Given the description of an element on the screen output the (x, y) to click on. 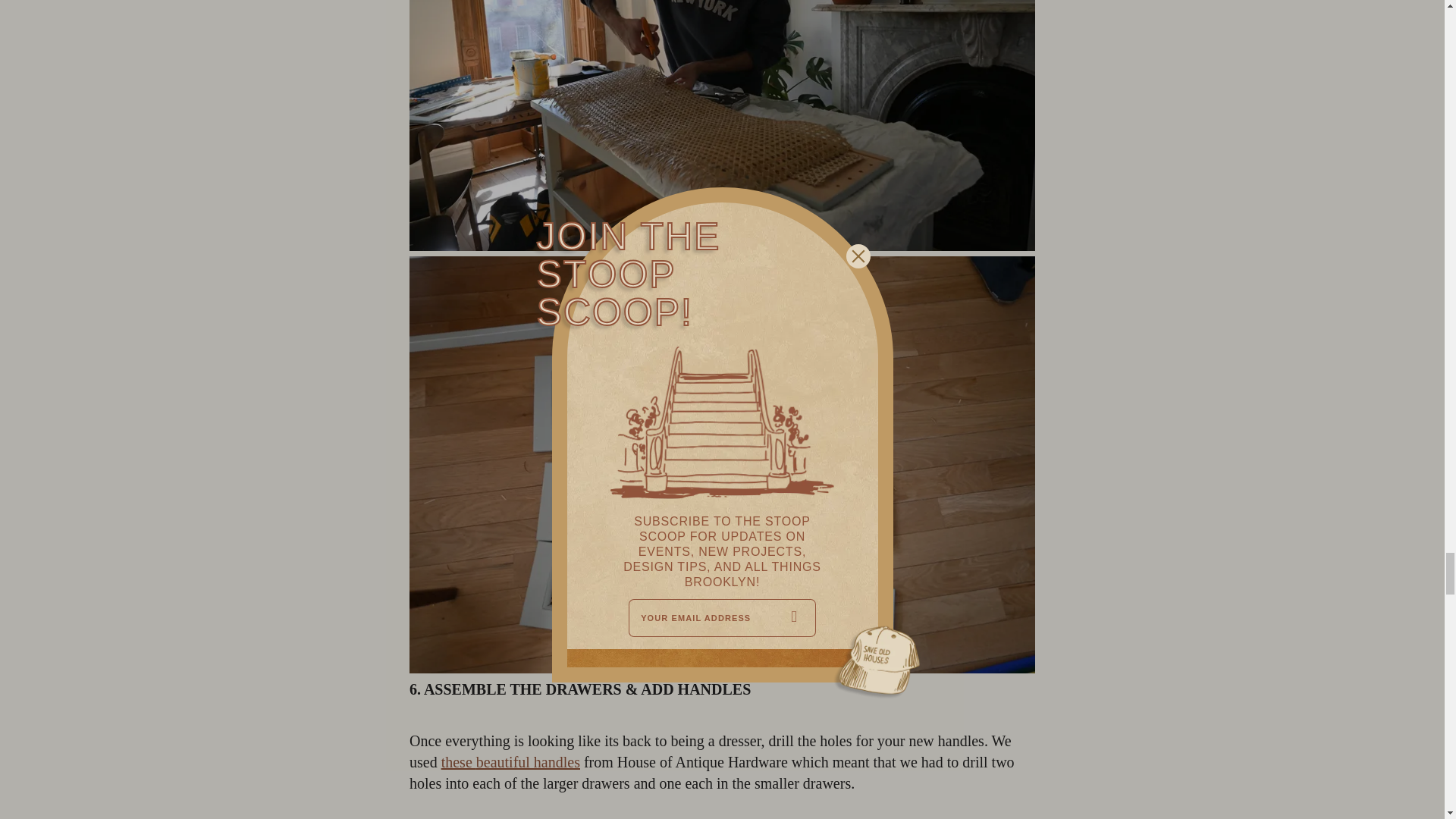
these (458, 761)
beautiful handles (527, 761)
